Given the description of an element on the screen output the (x, y) to click on. 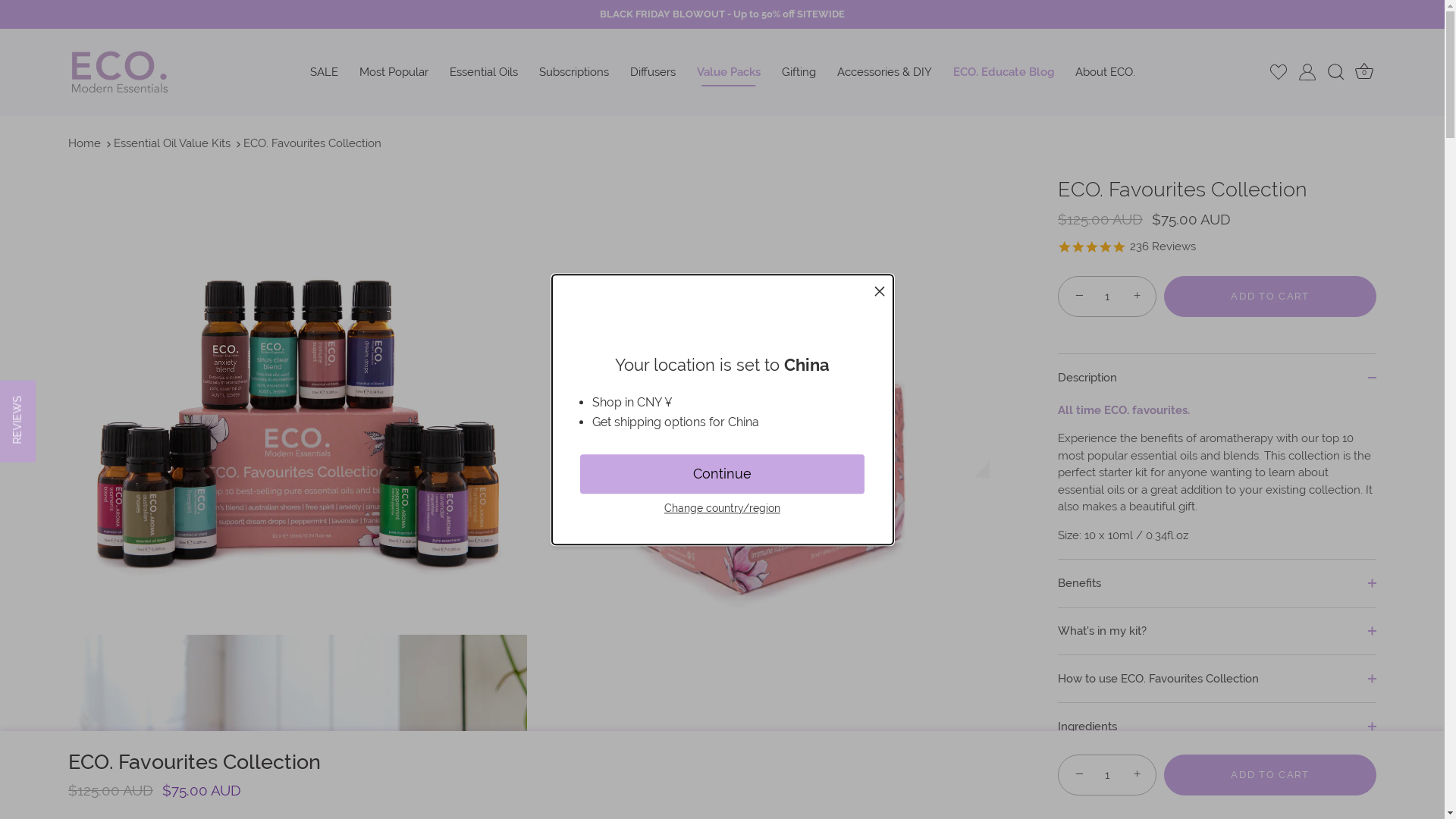
+ Element type: text (1138, 773)
+ Element type: text (1138, 295)
Subscriptions Element type: text (573, 71)
ECO. Educate Blog Element type: text (1002, 71)
Gifting Element type: text (797, 71)
Basket
0 Element type: text (1363, 71)
Value Packs Element type: text (727, 71)
About ECO. Element type: text (1105, 71)
Essential Oil Value Kits Element type: text (171, 143)
ADD TO CART Element type: text (1270, 296)
ECO. Favourites Collection Element type: text (312, 143)
SALE Element type: text (323, 71)
Accessories & DIY Element type: text (884, 71)
Most Popular Element type: text (393, 71)
ADD TO CART Element type: text (1270, 774)
Diffusers Element type: text (652, 71)
Essential Oils Element type: text (482, 71)
Home Element type: text (84, 143)
236 Reviews Element type: text (1162, 248)
